Given the description of an element on the screen output the (x, y) to click on. 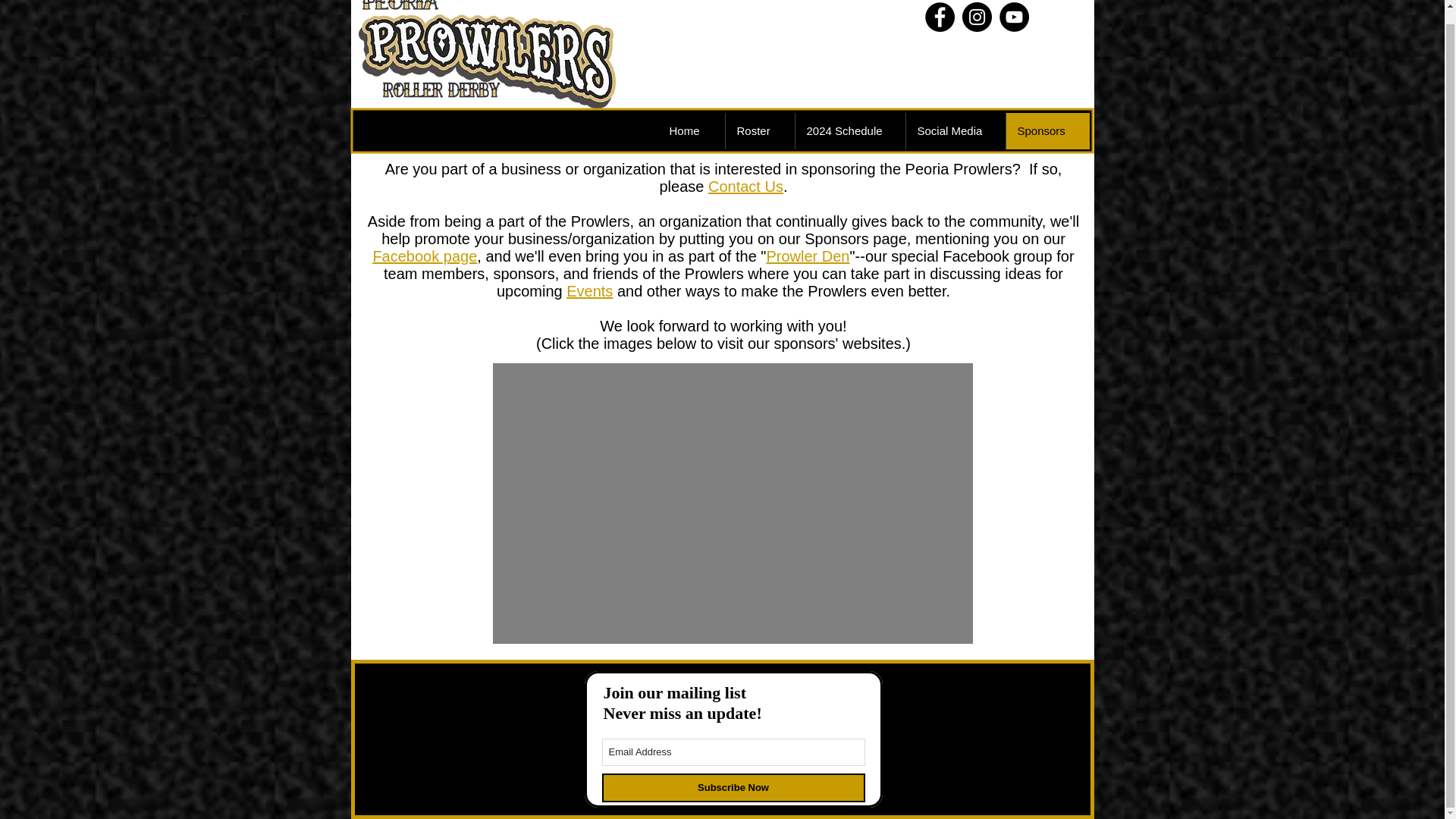
Roster (759, 131)
Subscribe Now (733, 787)
Social Media (955, 131)
Events (589, 290)
Contact Us (745, 186)
Prowler Den (806, 256)
Sponsors (1047, 131)
Home (691, 131)
2024 Schedule (849, 131)
Facebook page (424, 256)
